Given the description of an element on the screen output the (x, y) to click on. 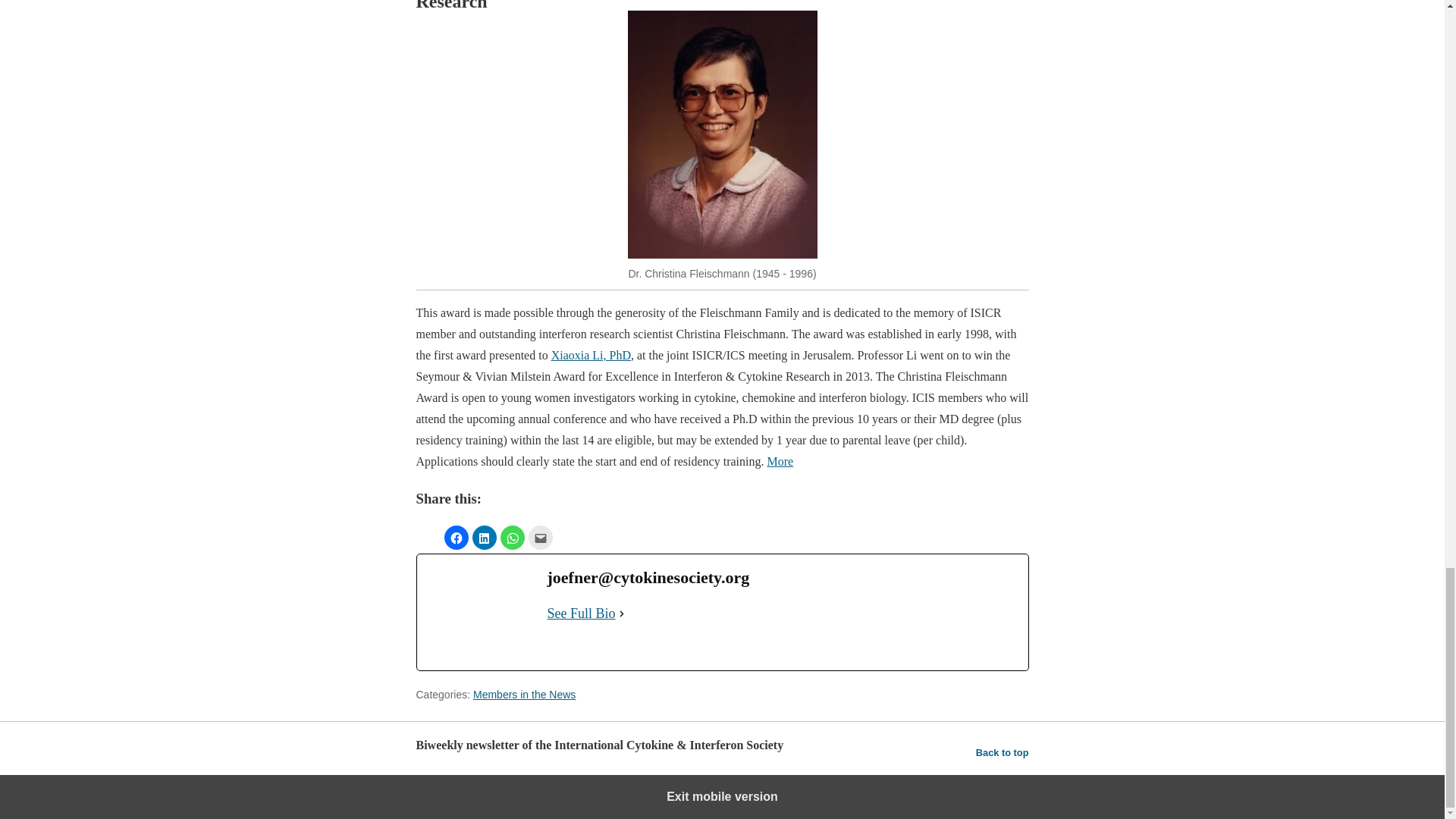
Click to share on WhatsApp (512, 537)
Click to share on X (426, 537)
Back to top (1002, 752)
More (780, 461)
See Full Bio (581, 613)
Click to share on Facebook (456, 537)
Click to share on LinkedIn (483, 537)
Xiaoxia Li, PhD (590, 354)
Click to share on Email (539, 537)
Members in the News (524, 694)
